Given the description of an element on the screen output the (x, y) to click on. 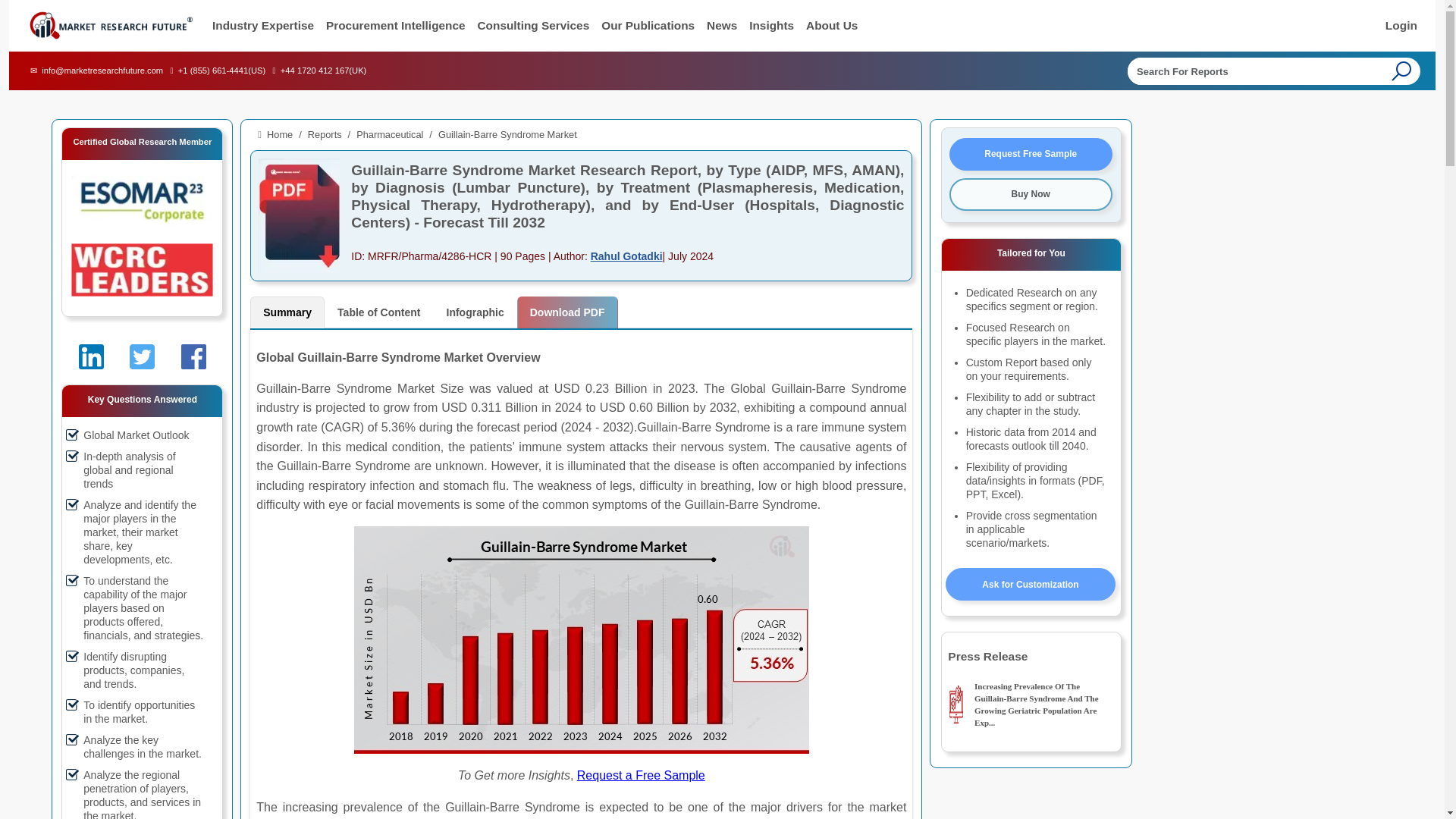
Industry Expertise (263, 25)
